Given the description of an element on the screen output the (x, y) to click on. 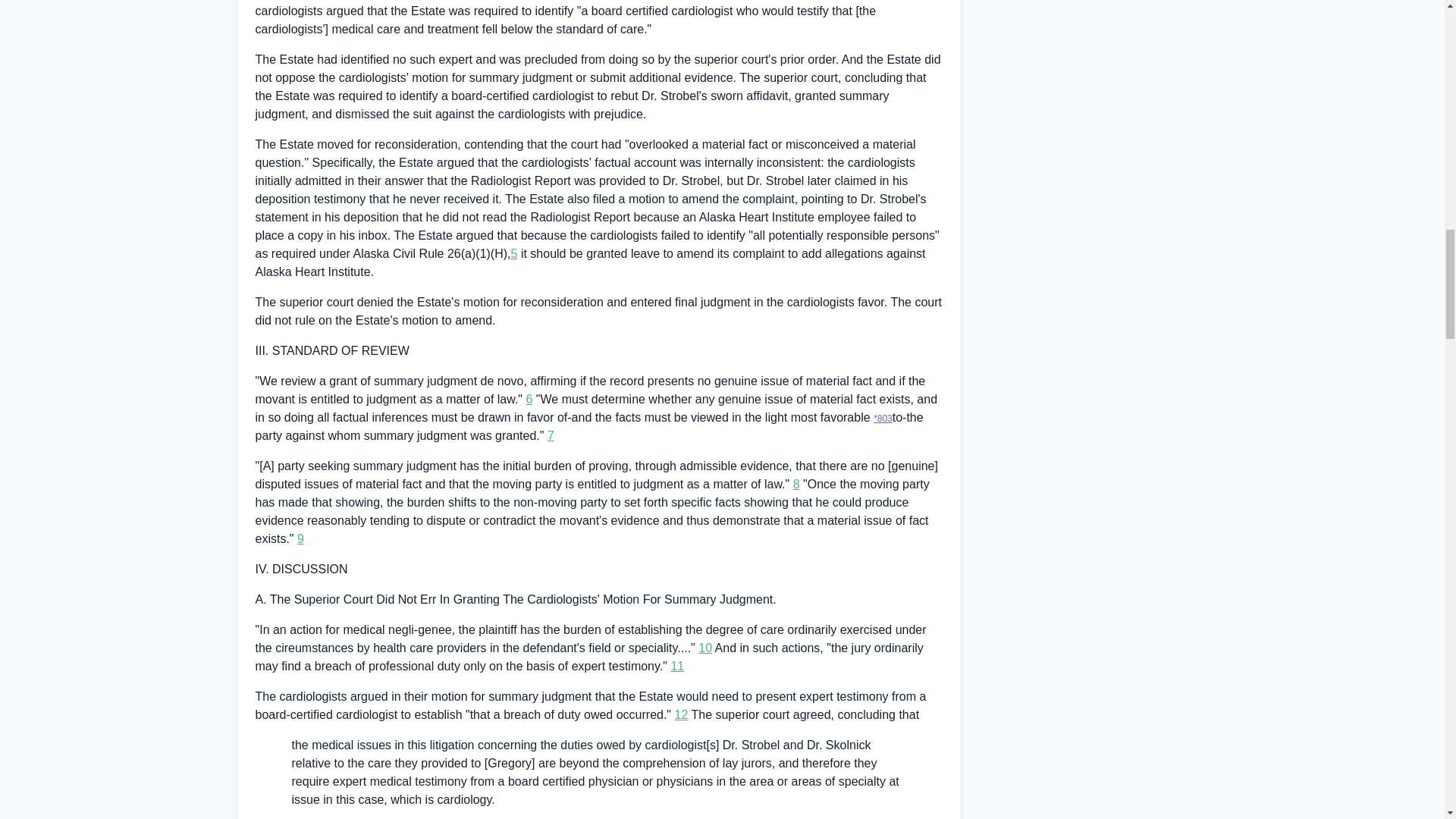
10 (704, 647)
12 (681, 714)
11 (676, 666)
